Given the description of an element on the screen output the (x, y) to click on. 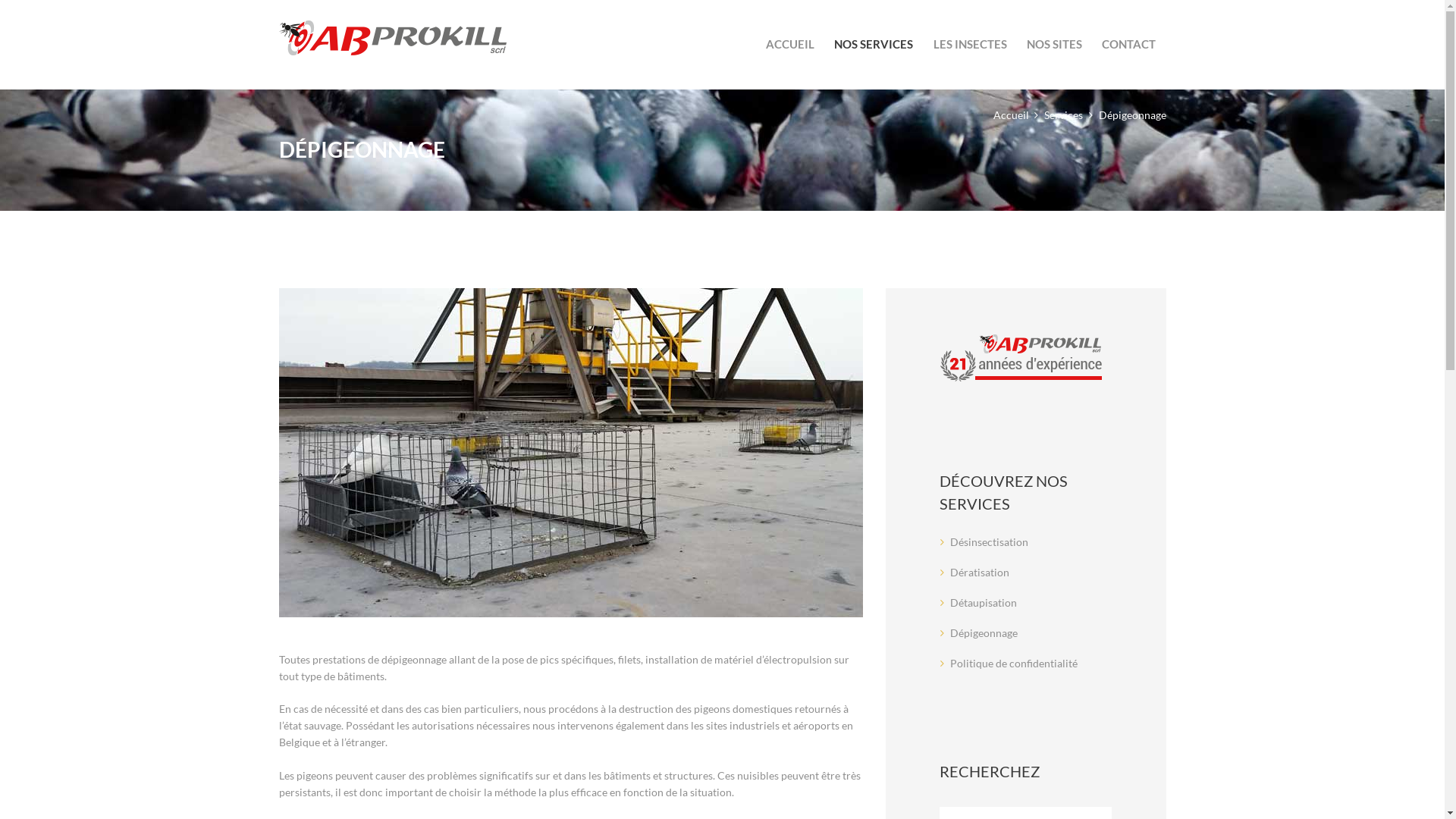
CONTACT Element type: text (1128, 44)
NOS SERVICES Element type: text (873, 44)
Accueil Element type: text (1011, 114)
ACCUEIL Element type: text (790, 44)
NOS SITES Element type: text (1054, 44)
Services Element type: text (1063, 114)
LES INSECTES Element type: text (969, 44)
